Given the description of an element on the screen output the (x, y) to click on. 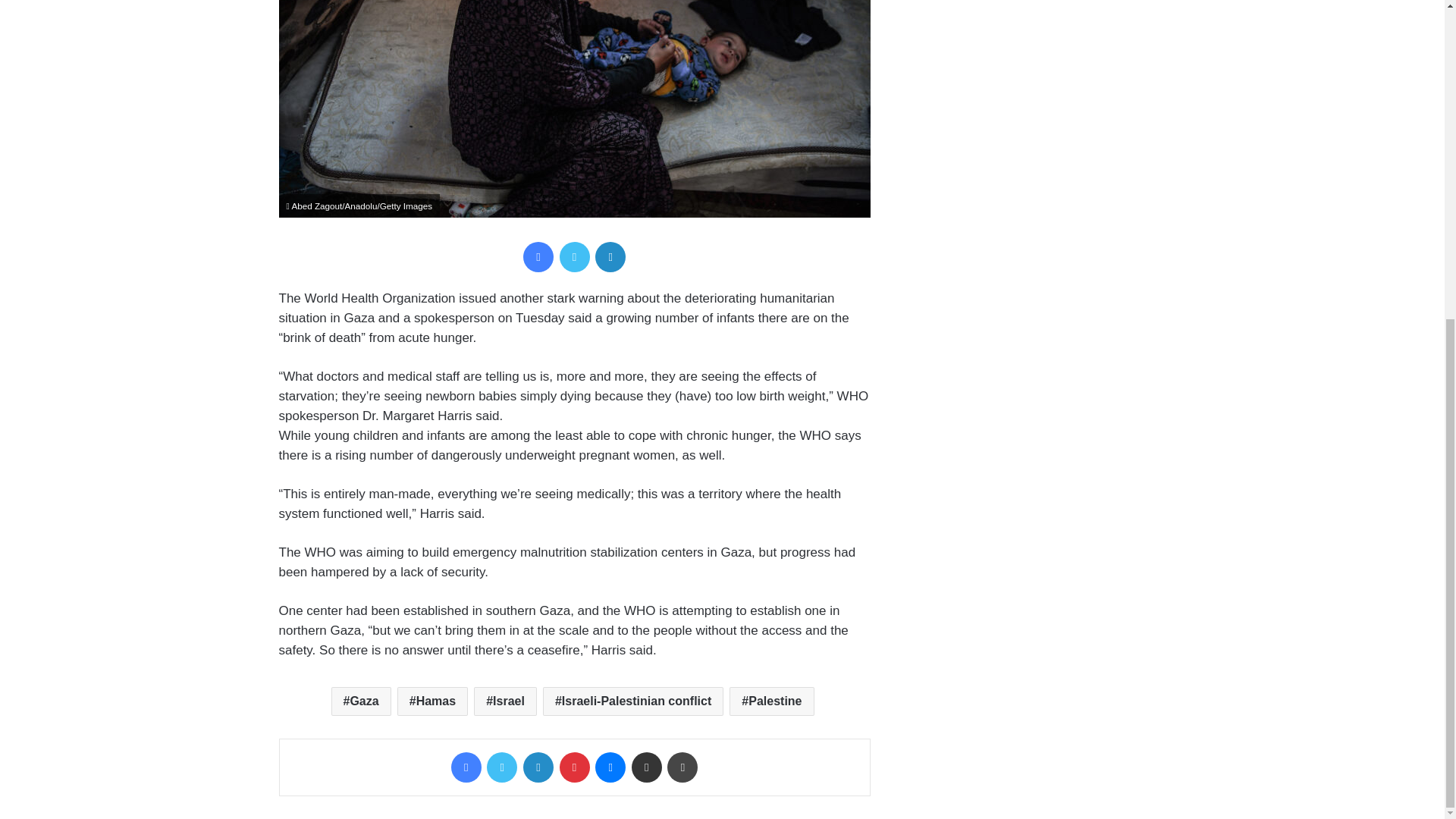
Pinterest (574, 767)
Pinterest (574, 767)
LinkedIn (537, 767)
Share via Email (646, 767)
Messenger (610, 767)
Israeli-Palestinian conflict (633, 701)
Facebook (466, 767)
Facebook (537, 256)
Palestine (771, 701)
LinkedIn (610, 256)
